Given the description of an element on the screen output the (x, y) to click on. 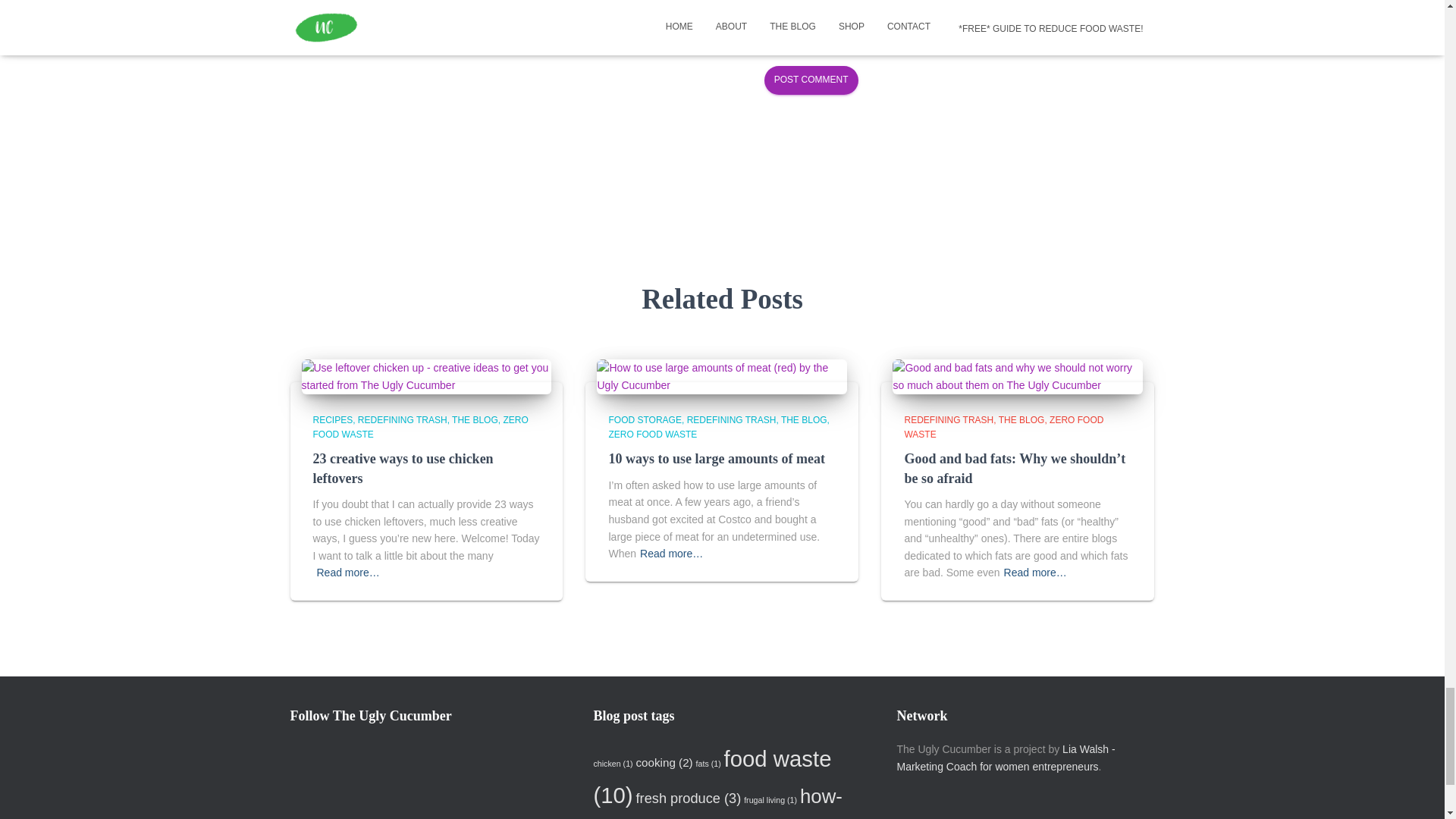
Post Comment (811, 80)
Post Comment (811, 80)
10 ways to use large amounts of meat (721, 376)
View all posts in Zero food waste (420, 426)
View all posts in Recipes (334, 419)
subscribe (373, 37)
View all posts in The blog (476, 419)
subscribe (373, 8)
23 creative ways to use chicken leftovers (403, 468)
23 creative ways to use chicken leftovers (426, 376)
